Given the description of an element on the screen output the (x, y) to click on. 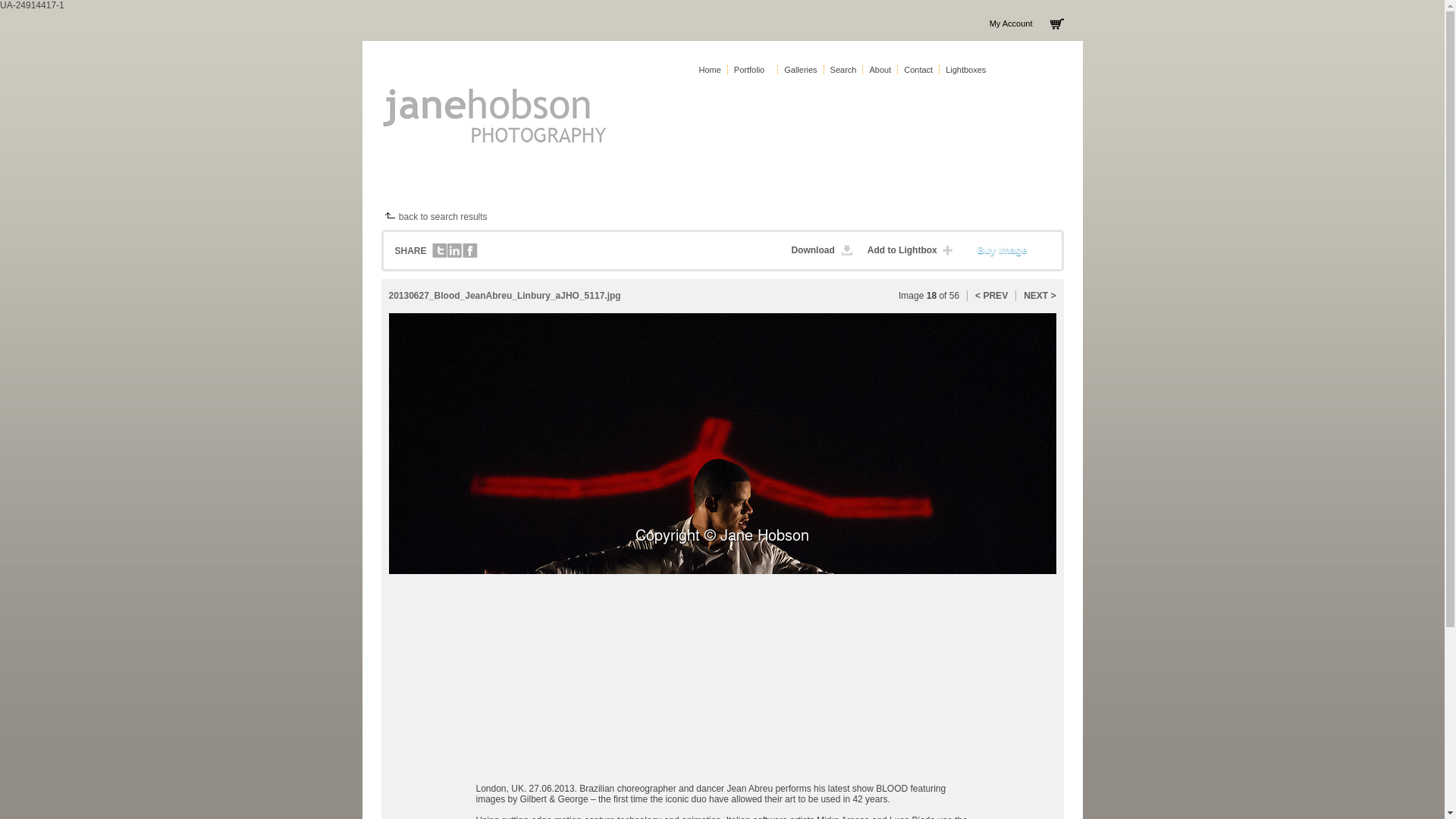
Search (843, 69)
Contact (918, 69)
Galleries (799, 69)
Add to Cart (1011, 250)
Download (824, 250)
Search (843, 69)
My Account (1011, 23)
Lightboxes (965, 69)
About (879, 69)
About (879, 69)
